Given the description of an element on the screen output the (x, y) to click on. 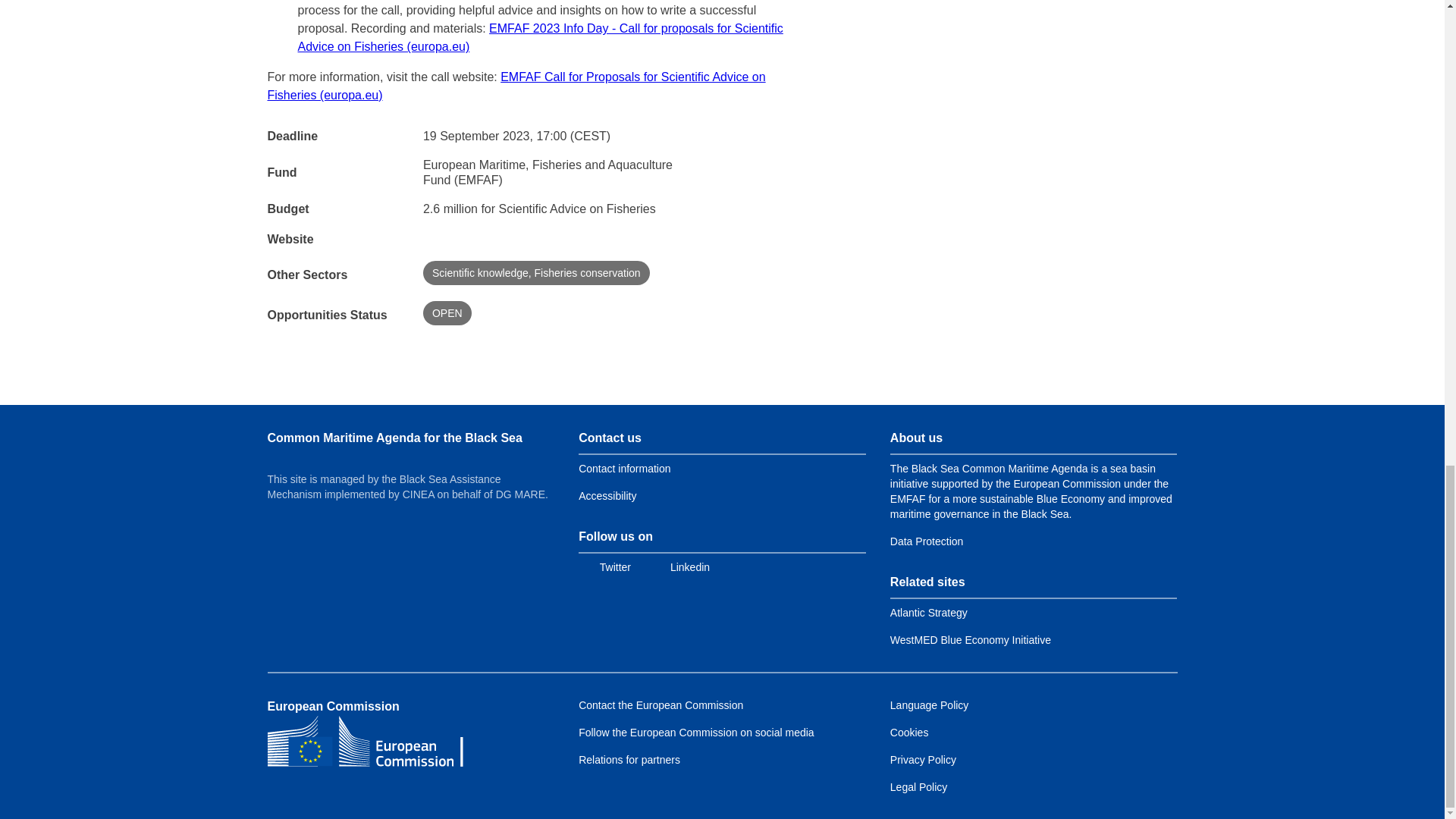
European Commission (364, 740)
Contact information (623, 468)
Accessibility (607, 495)
Common Maritime Agenda for the Black Sea (393, 437)
